Given the description of an element on the screen output the (x, y) to click on. 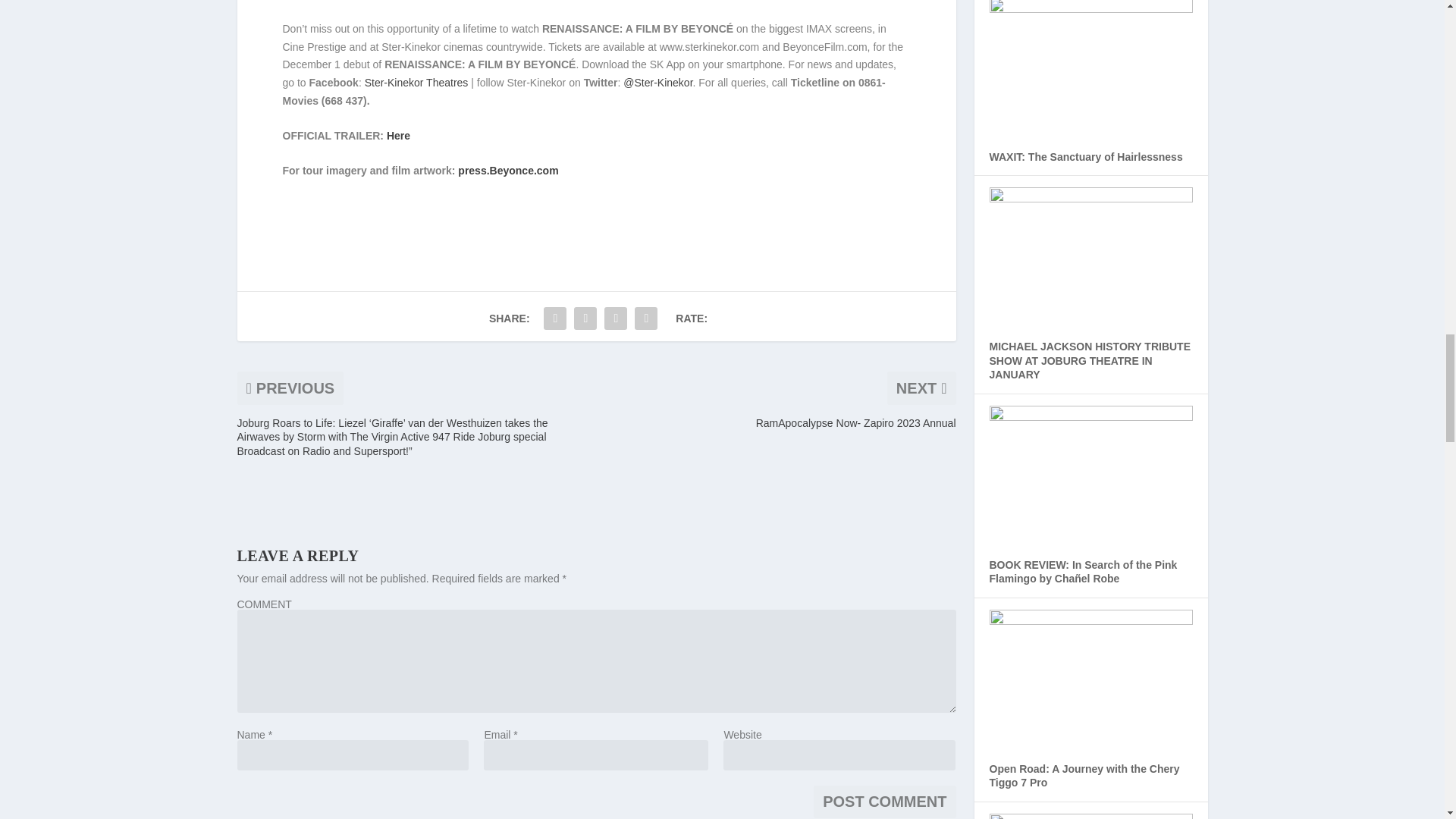
Post Comment (884, 801)
Post Comment (884, 801)
Here (398, 135)
Ster-Kinekor Theatres (416, 82)
press.Beyonce.com (507, 170)
